Given the description of an element on the screen output the (x, y) to click on. 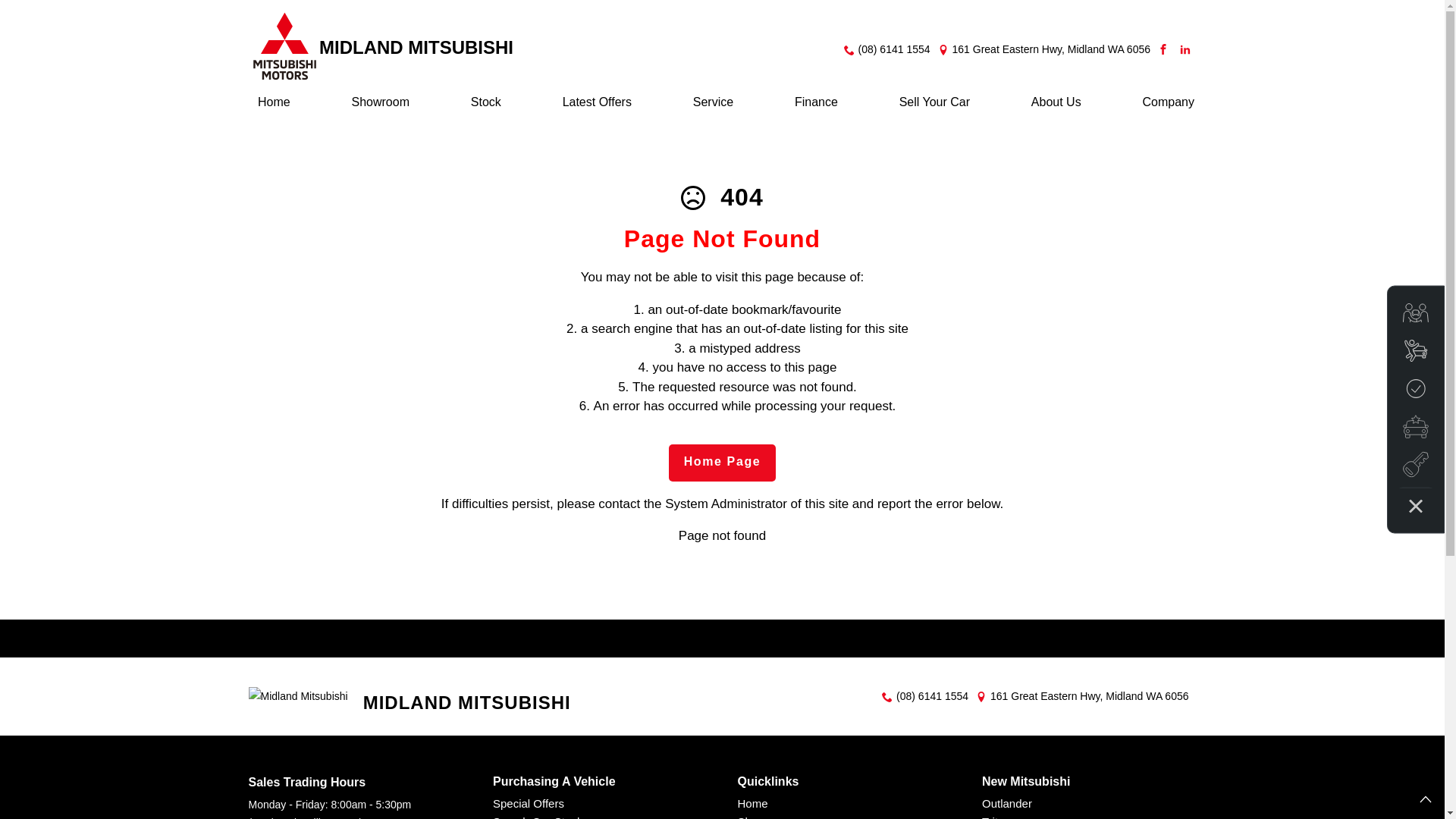
Latest Offers Element type: text (597, 107)
MIDLAND MITSUBISHI Element type: text (409, 696)
161 Great Eastern Hwy, Midland WA 6056 Element type: text (1051, 49)
Company Element type: text (1163, 107)
Home Element type: text (274, 107)
Stock Element type: text (485, 107)
Showroom Element type: text (380, 107)
161 Great Eastern Hwy, Midland WA 6056 Element type: text (1089, 696)
Special Offers Element type: text (528, 803)
Service Element type: text (712, 107)
Finance Element type: text (816, 107)
About Us Element type: text (1055, 107)
Sell Your Car Element type: text (934, 107)
Home Element type: text (752, 803)
(08) 6141 1554 Element type: text (932, 696)
(08) 6141 1554 Element type: text (894, 49)
Home Page Element type: text (722, 462)
MIDLAND MITSUBISHI Element type: text (381, 49)
Outlander Element type: text (1007, 803)
